Given the description of an element on the screen output the (x, y) to click on. 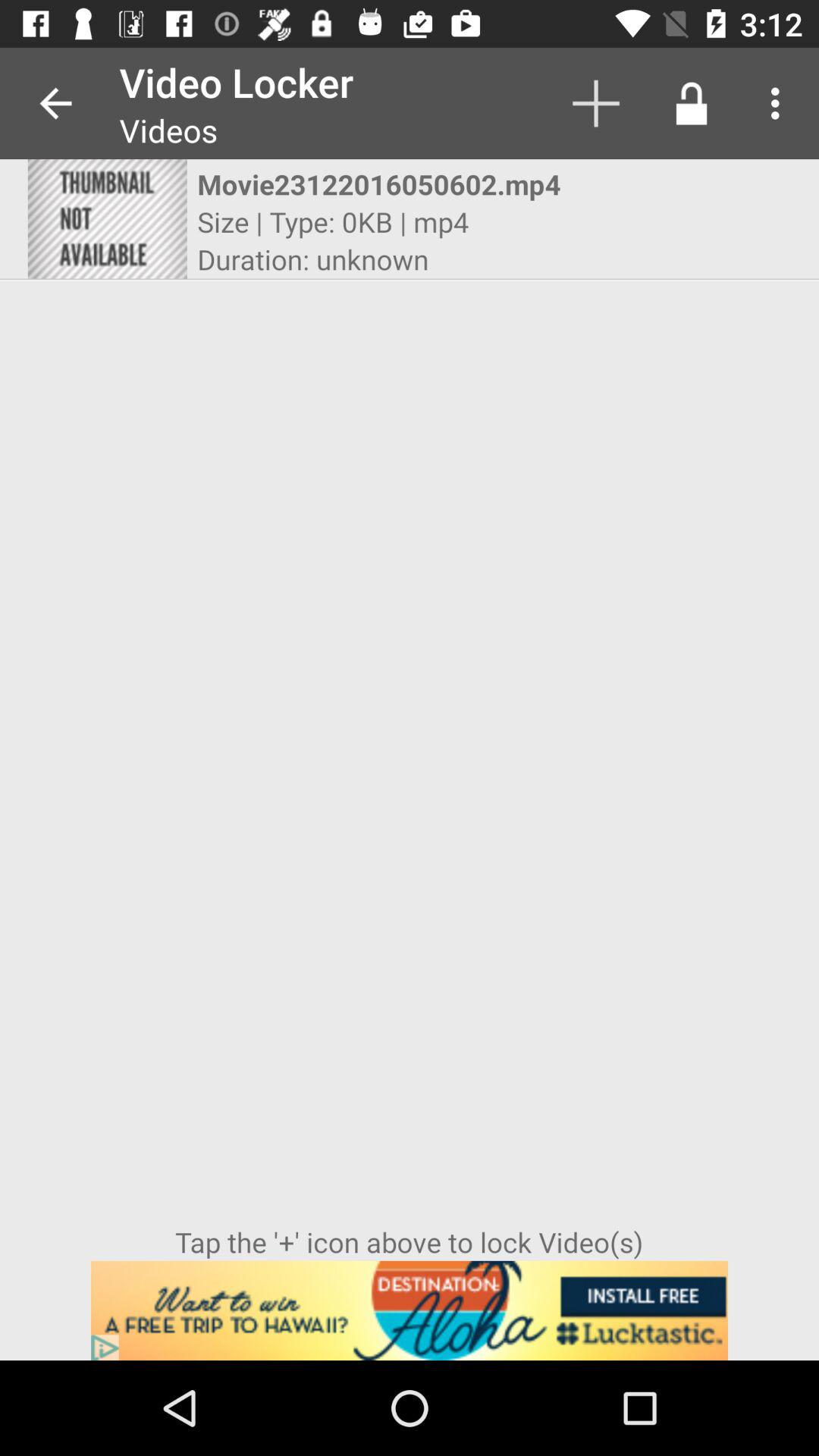
press duration: unknown (312, 259)
